Given the description of an element on the screen output the (x, y) to click on. 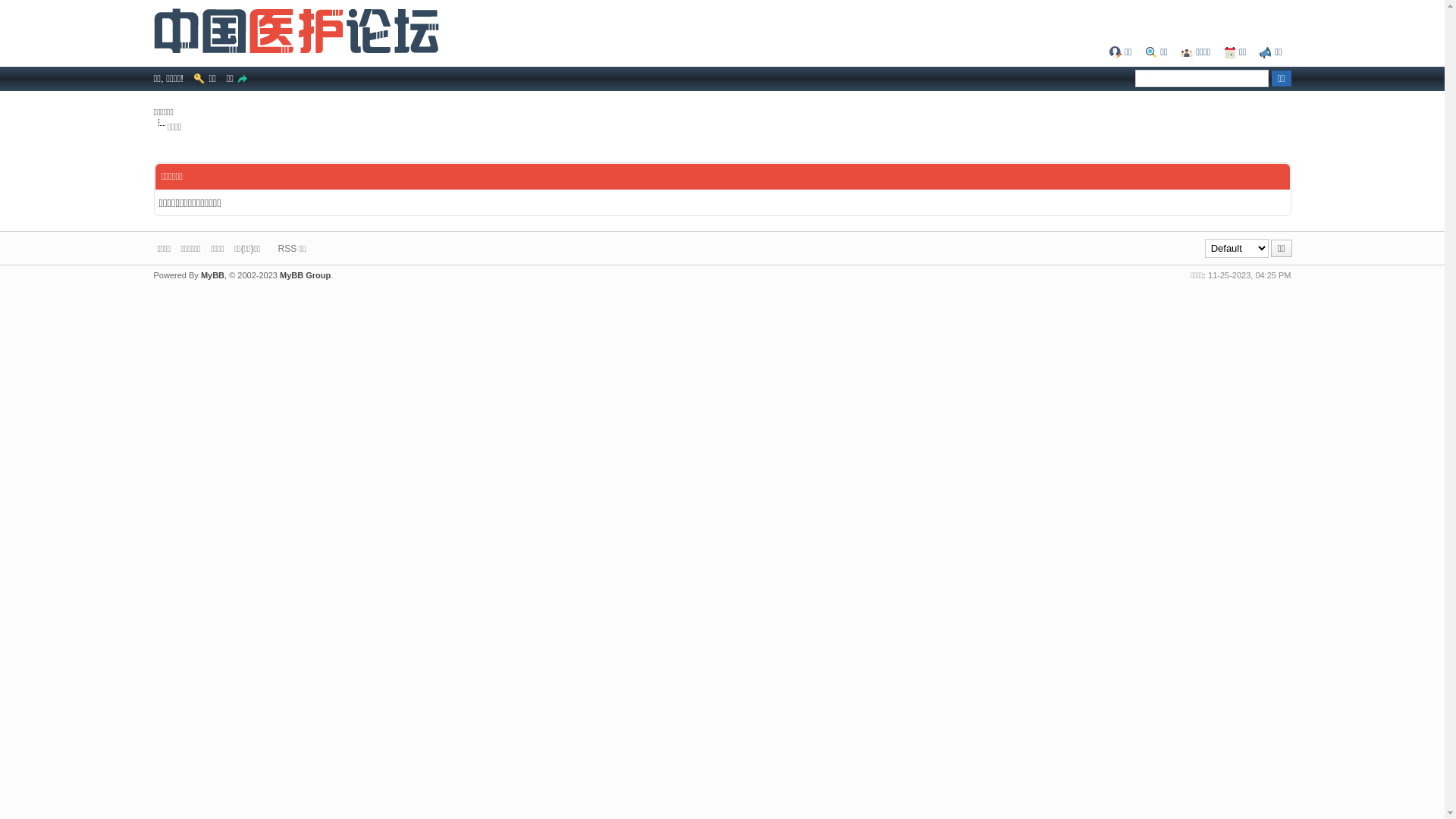
MyBB Element type: text (212, 274)
MyBB Group Element type: text (304, 274)
